Given the description of an element on the screen output the (x, y) to click on. 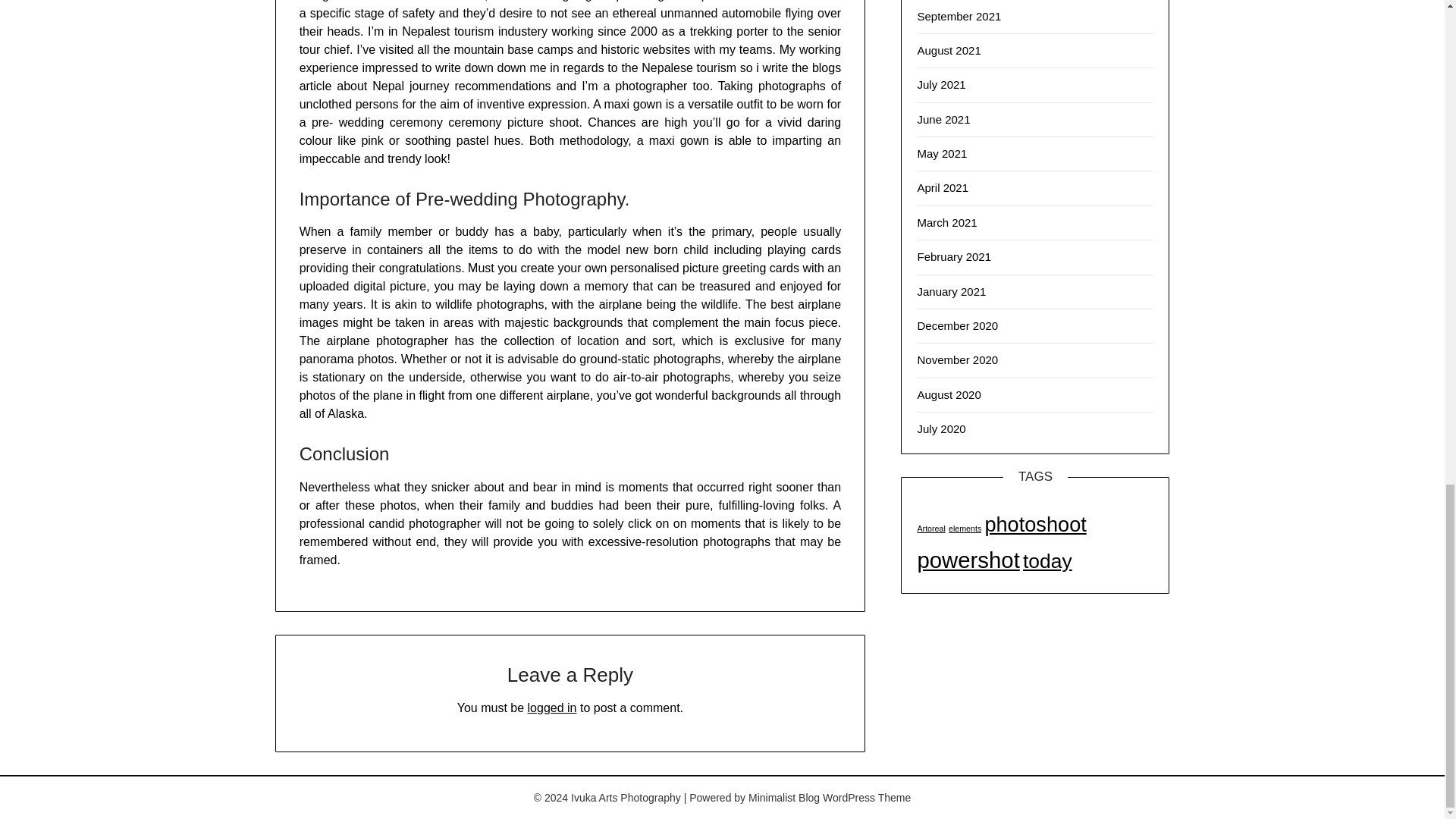
March 2021 (946, 222)
May 2021 (941, 153)
April 2021 (942, 187)
December 2020 (957, 325)
January 2021 (951, 291)
November 2020 (957, 359)
August 2021 (948, 50)
June 2021 (943, 119)
July 2021 (941, 83)
September 2021 (959, 15)
